Given the description of an element on the screen output the (x, y) to click on. 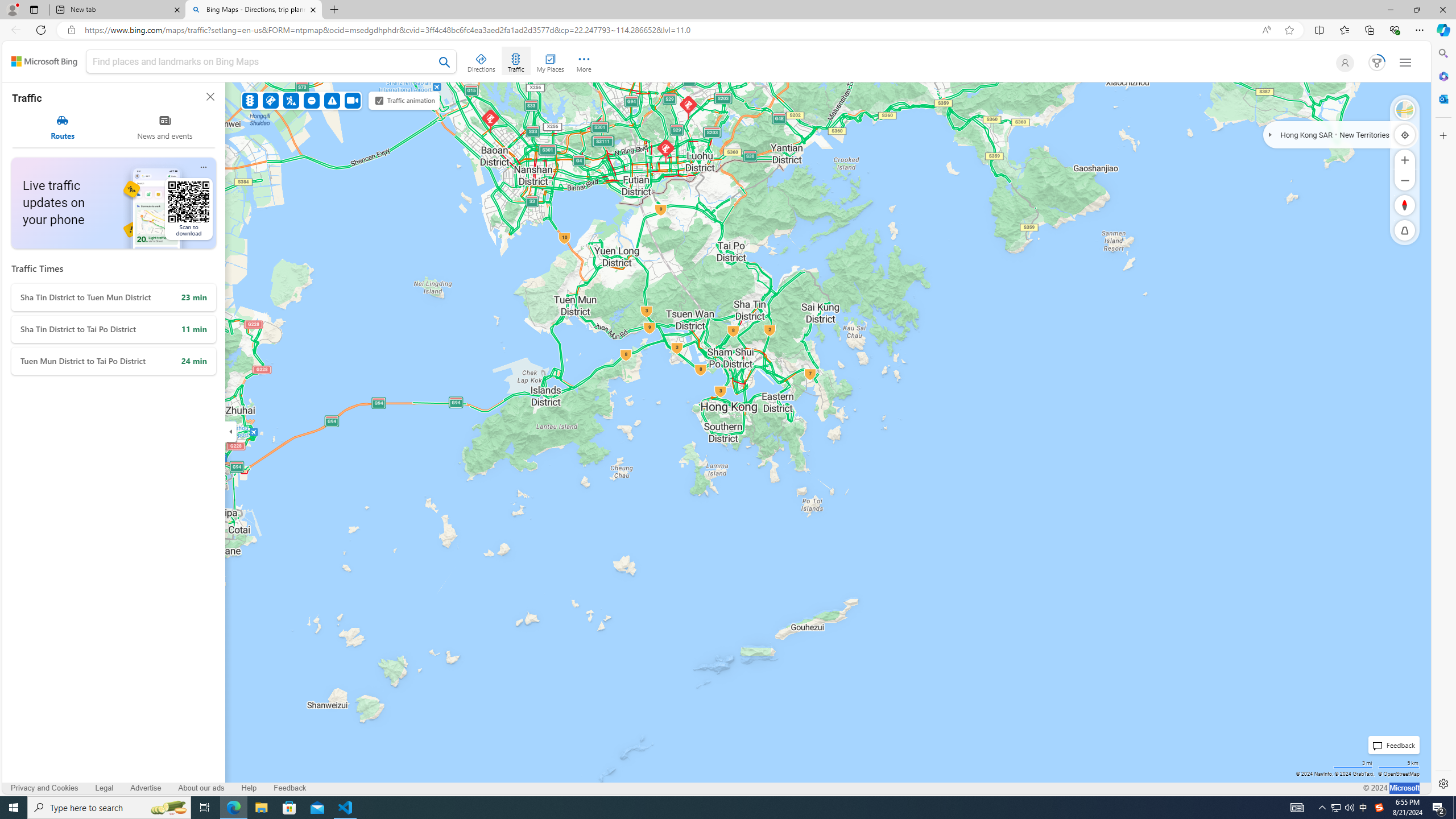
News and events (164, 127)
Satellite (1404, 109)
Reset to Default Rotation (1404, 204)
My Places (549, 60)
Traffic animation (378, 100)
Accidents (270, 100)
